Given the description of an element on the screen output the (x, y) to click on. 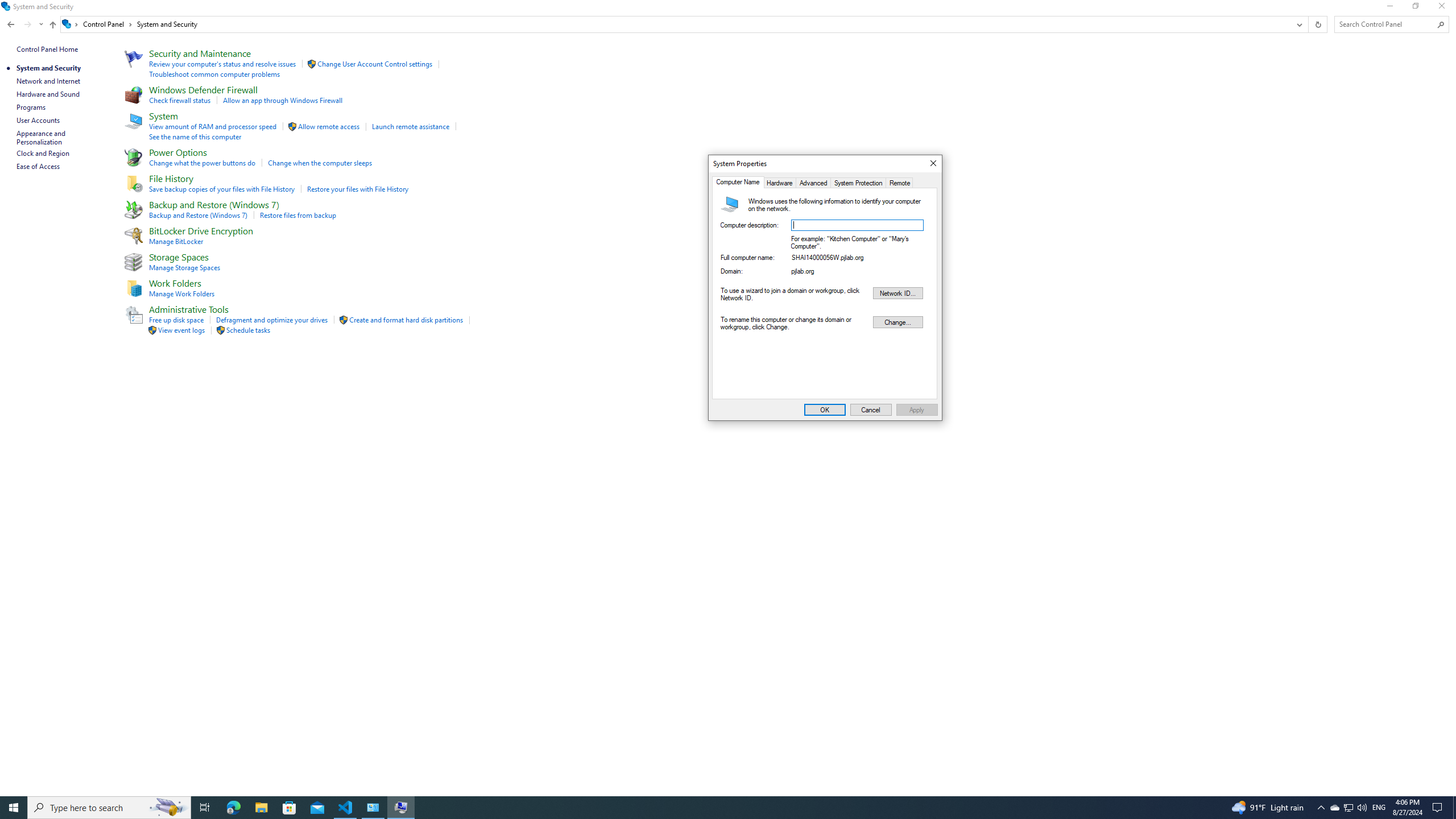
Change... (897, 321)
Task View (204, 807)
Advanced (813, 182)
Control Panel - 1 running window (373, 807)
Microsoft Edge (233, 807)
Hardware (779, 182)
Show desktop (1454, 807)
OK (1347, 807)
System Remote Settings - 1 running window (824, 409)
Microsoft Store (400, 807)
Apply (289, 807)
